Given the description of an element on the screen output the (x, y) to click on. 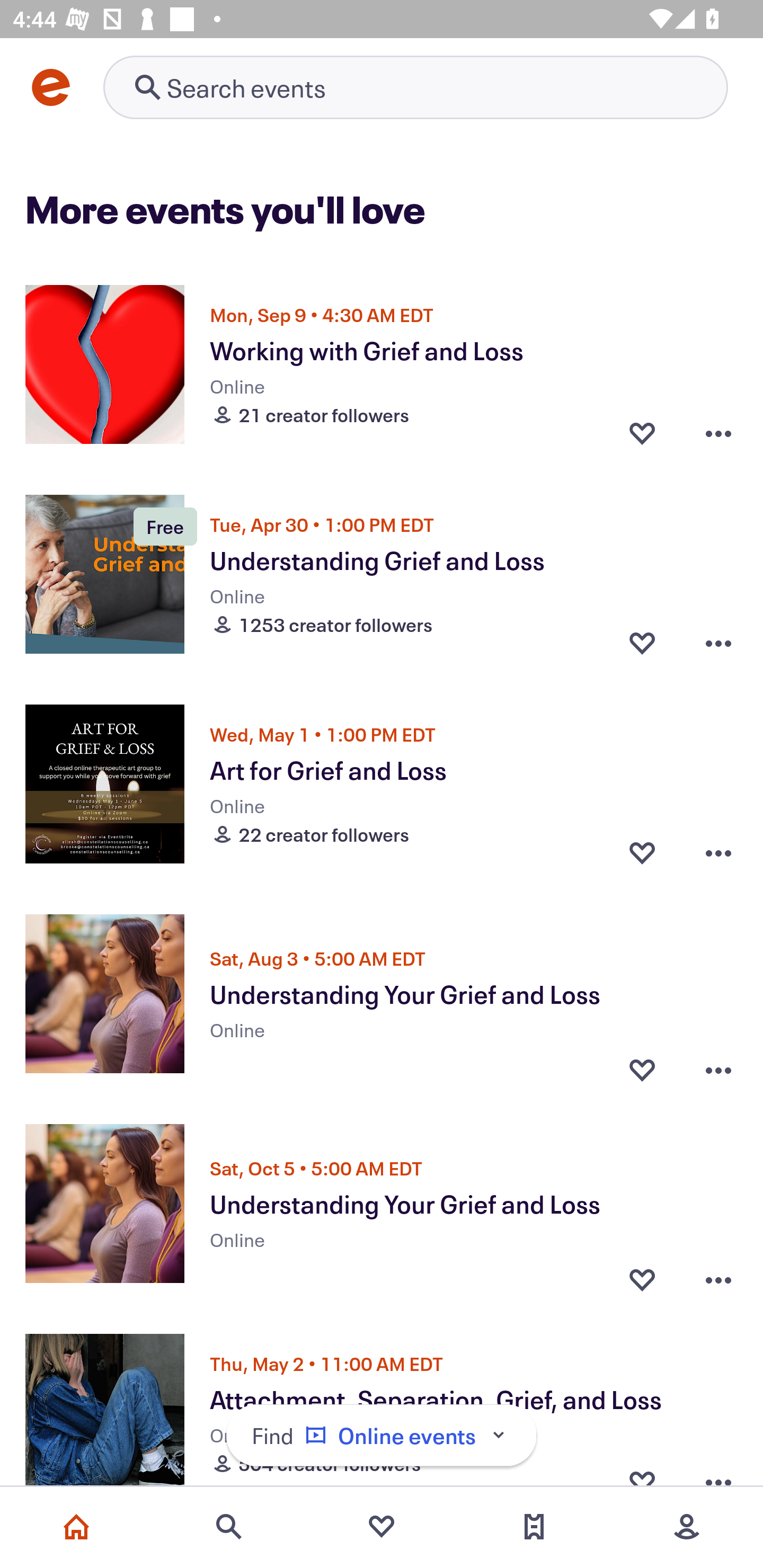
Retry's image Search events (415, 86)
Favorite button (642, 431)
Overflow menu button (718, 431)
Favorite button (642, 641)
Overflow menu button (718, 641)
Favorite button (642, 852)
Overflow menu button (718, 852)
Favorite button (642, 1065)
Overflow menu button (718, 1065)
Favorite button (642, 1274)
Overflow menu button (718, 1274)
Find Online events (381, 1435)
Home (76, 1526)
Search events (228, 1526)
Favorites (381, 1526)
Tickets (533, 1526)
More (686, 1526)
